Given the description of an element on the screen output the (x, y) to click on. 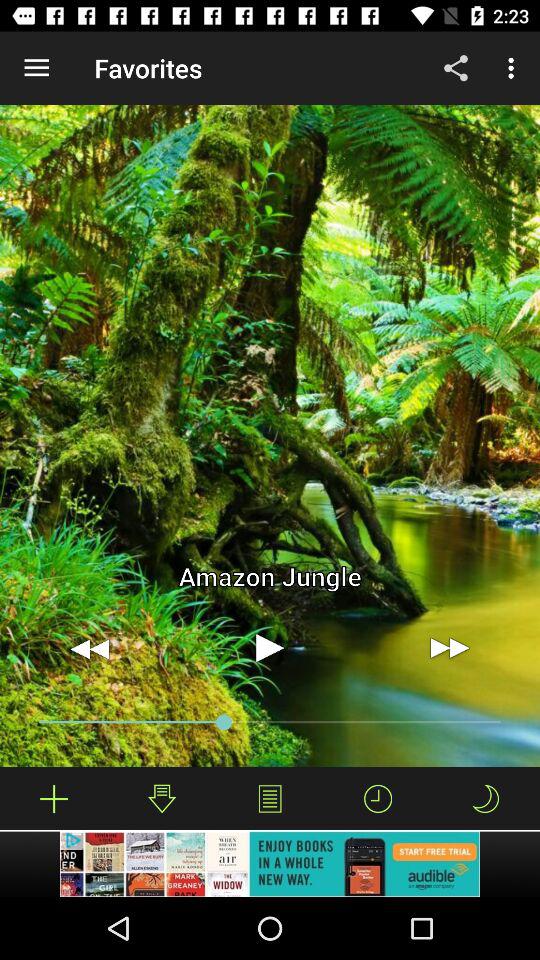
set alarm (378, 798)
